Given the description of an element on the screen output the (x, y) to click on. 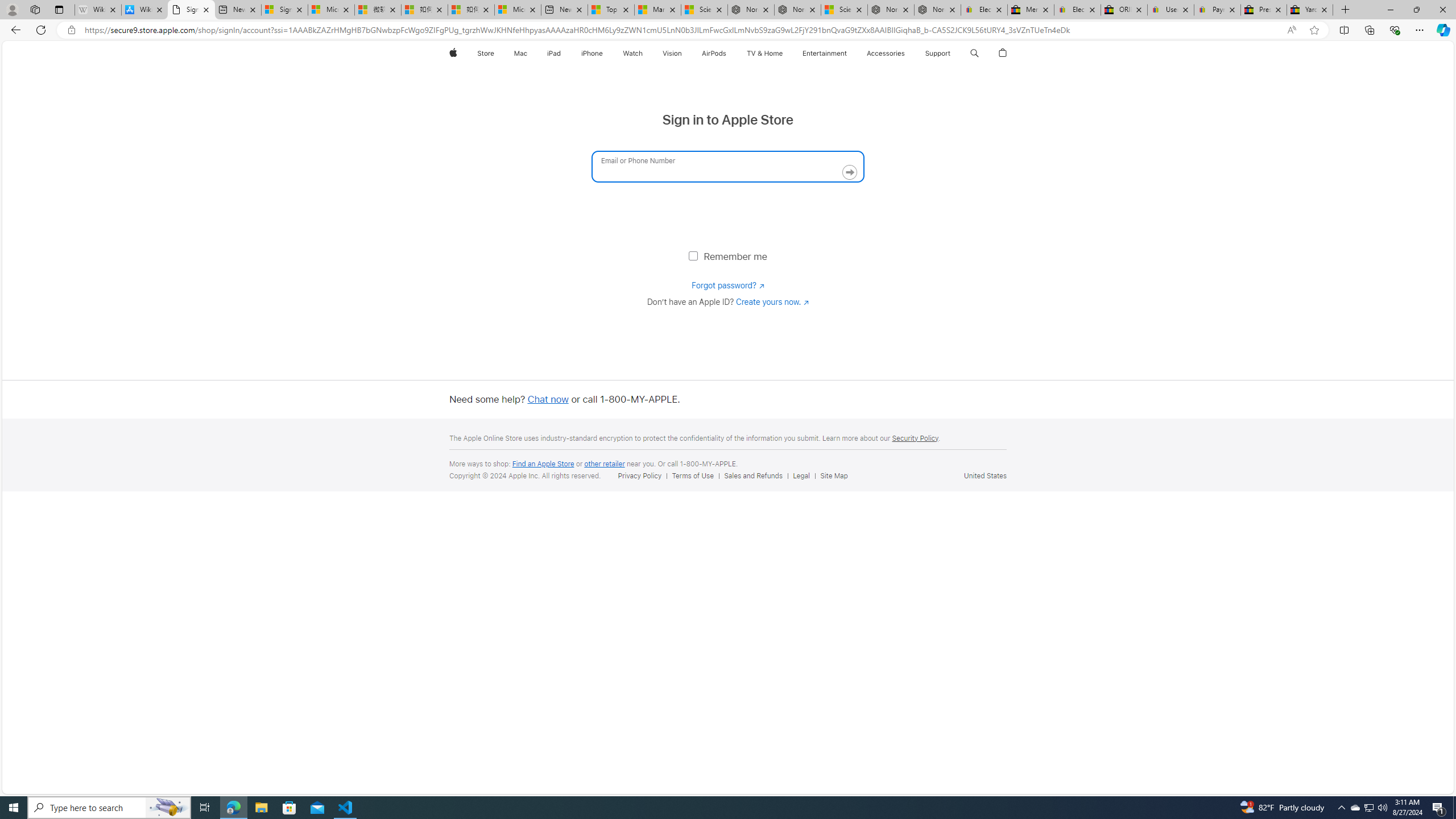
Mac (520, 53)
Sales and Refunds (753, 475)
Vision (671, 53)
Apple (452, 53)
Search apple.com (973, 53)
United States (984, 475)
Site Map (836, 475)
